Given the description of an element on the screen output the (x, y) to click on. 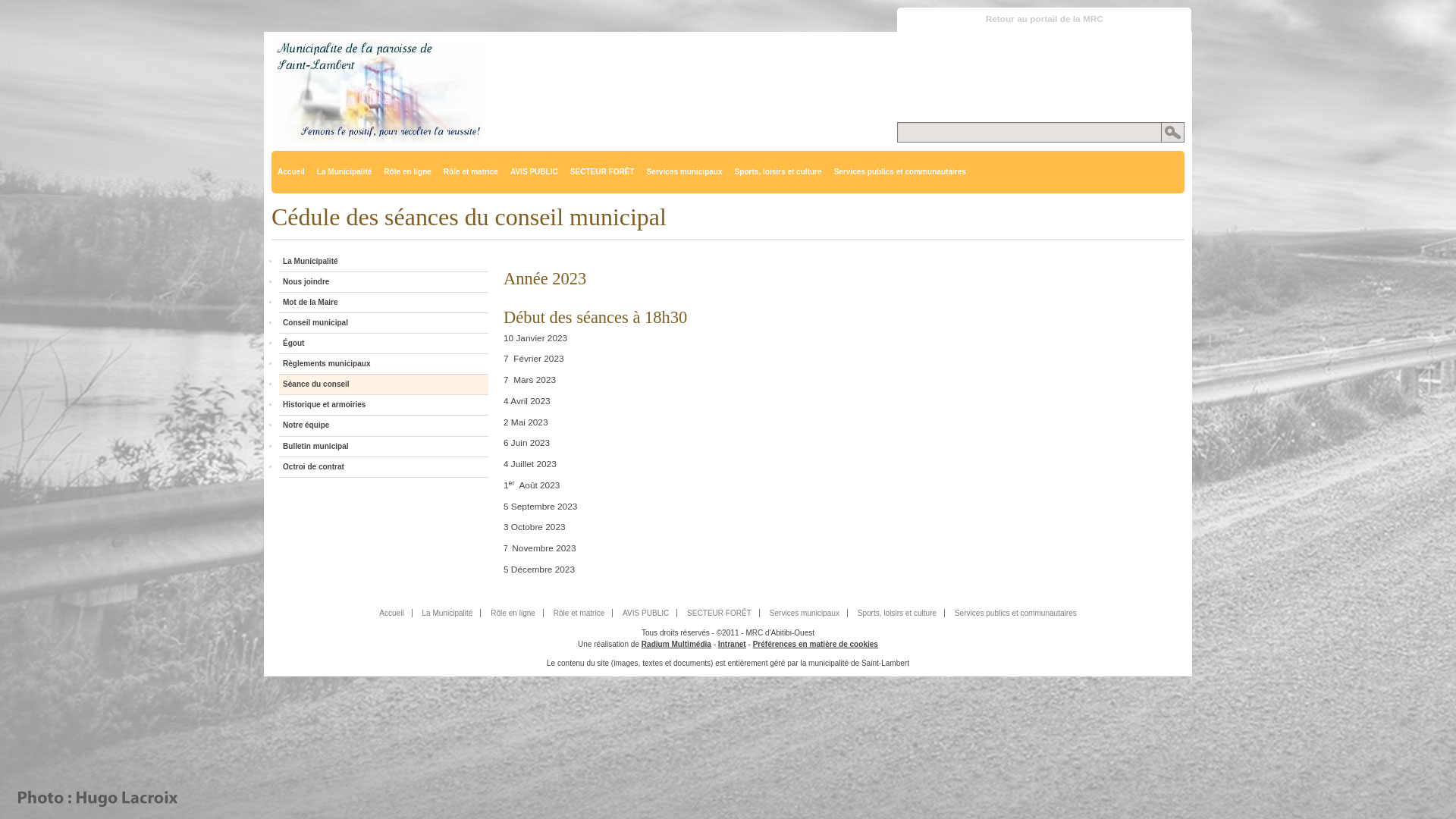
Mot de la Maire Element type: text (383, 302)
Intranet Element type: text (732, 644)
Retour au portail de la MRC Element type: text (1044, 19)
Accueil Element type: text (391, 612)
Octroi de contrat Element type: text (383, 467)
Sports, loisirs et culture Element type: text (778, 171)
Conseil municipal Element type: text (383, 322)
Services publics et communautaires Element type: text (900, 171)
Services municipaux Element type: text (684, 171)
Services municipaux Element type: text (804, 612)
AVIS PUBLIC Element type: text (534, 171)
Nous joindre Element type: text (383, 282)
Historique et armoiries Element type: text (383, 404)
Accueil Element type: text (290, 171)
Sports, loisirs et culture Element type: text (897, 612)
Bulletin municipal Element type: text (383, 446)
AVIS PUBLIC Element type: text (646, 612)
Services publics et communautaires Element type: text (1015, 612)
